Given the description of an element on the screen output the (x, y) to click on. 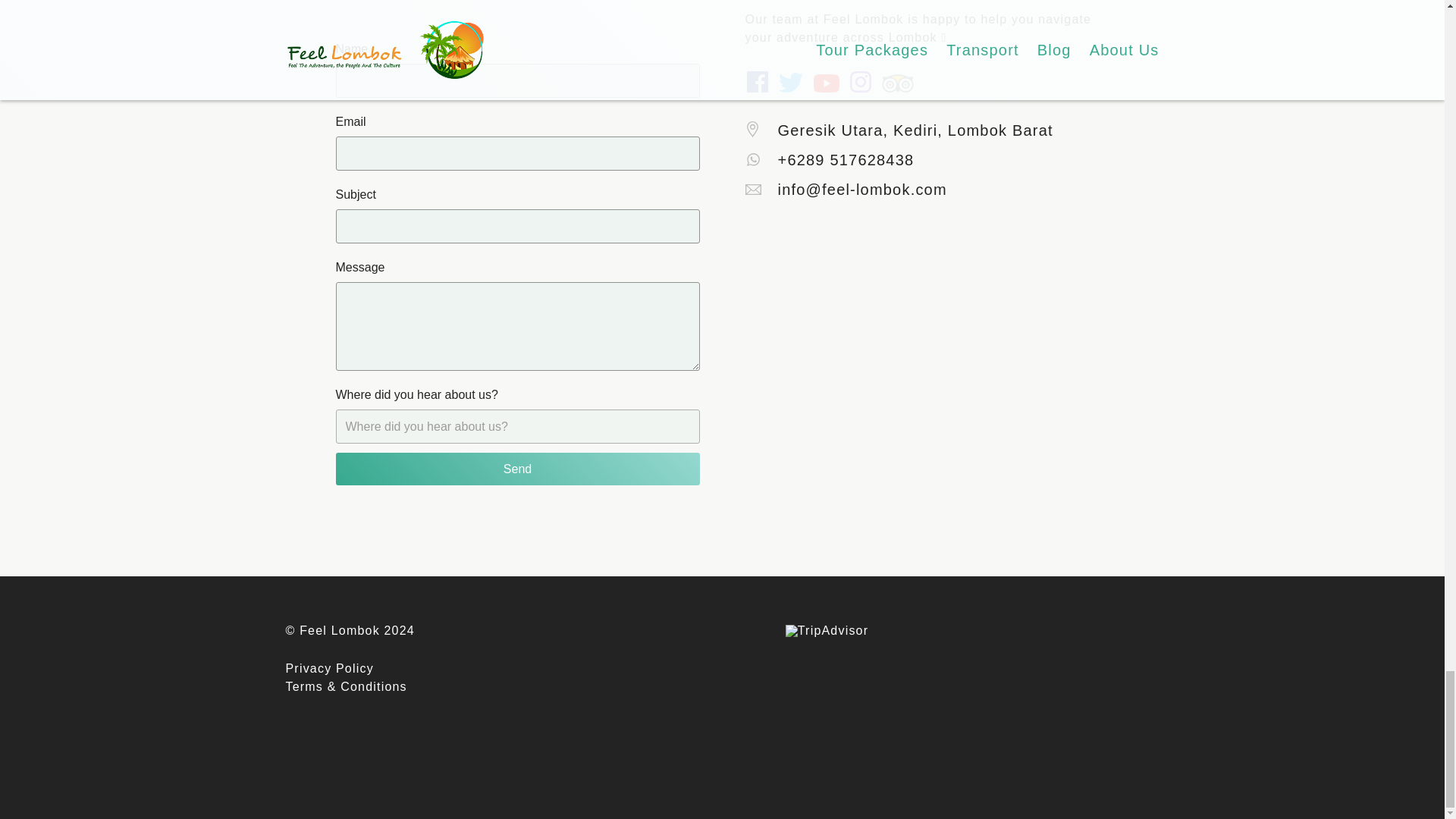
Privacy Policy (328, 669)
Twitter (789, 82)
Trip Advisor (896, 83)
Geresik Utara, Kediri, Lombok Barat (898, 129)
Send (516, 468)
Instagram (859, 81)
Youtube (825, 83)
Facebook (756, 81)
Send (516, 468)
